Given the description of an element on the screen output the (x, y) to click on. 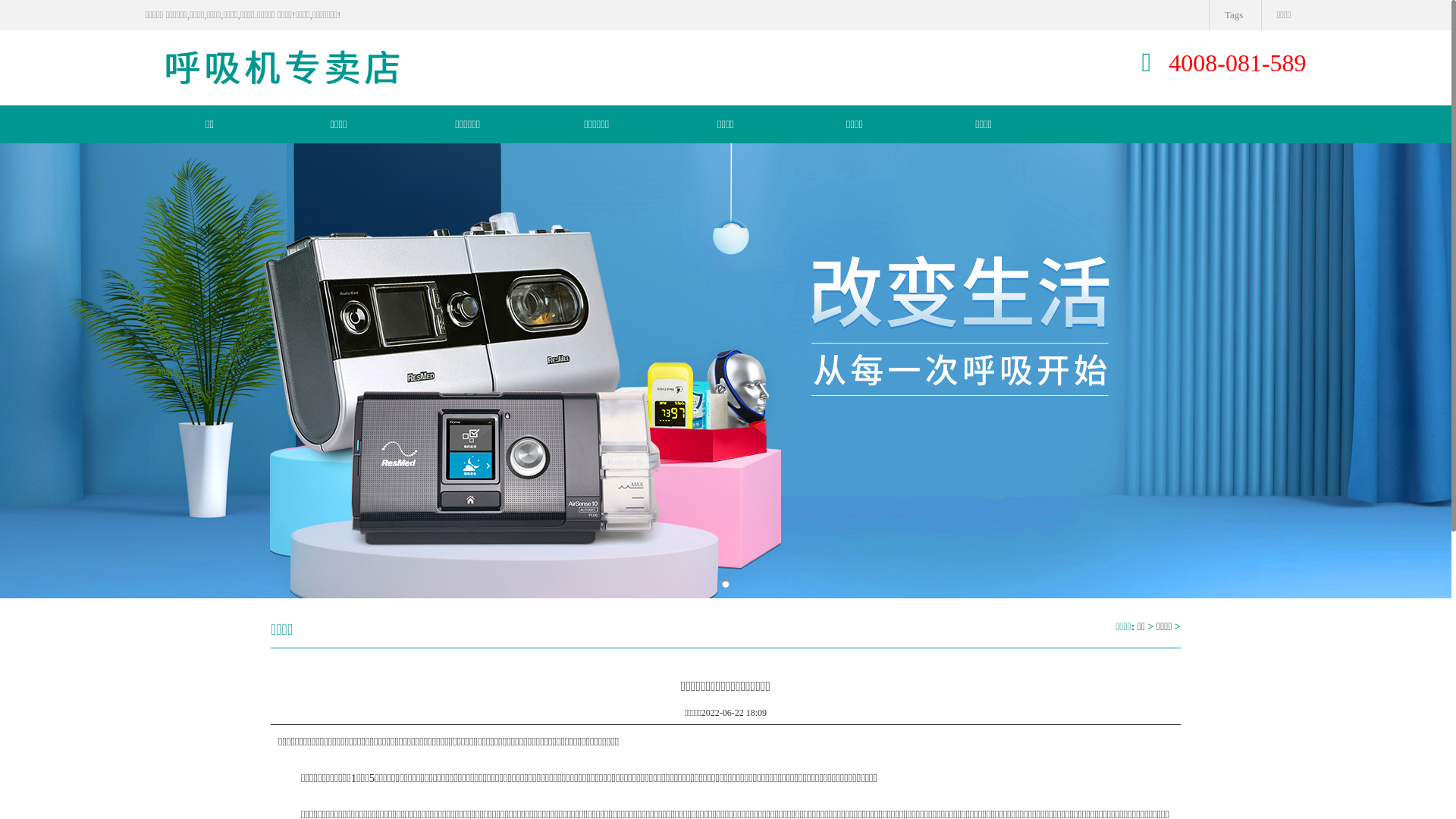
Tags Element type: text (1233, 15)
